Given the description of an element on the screen output the (x, y) to click on. 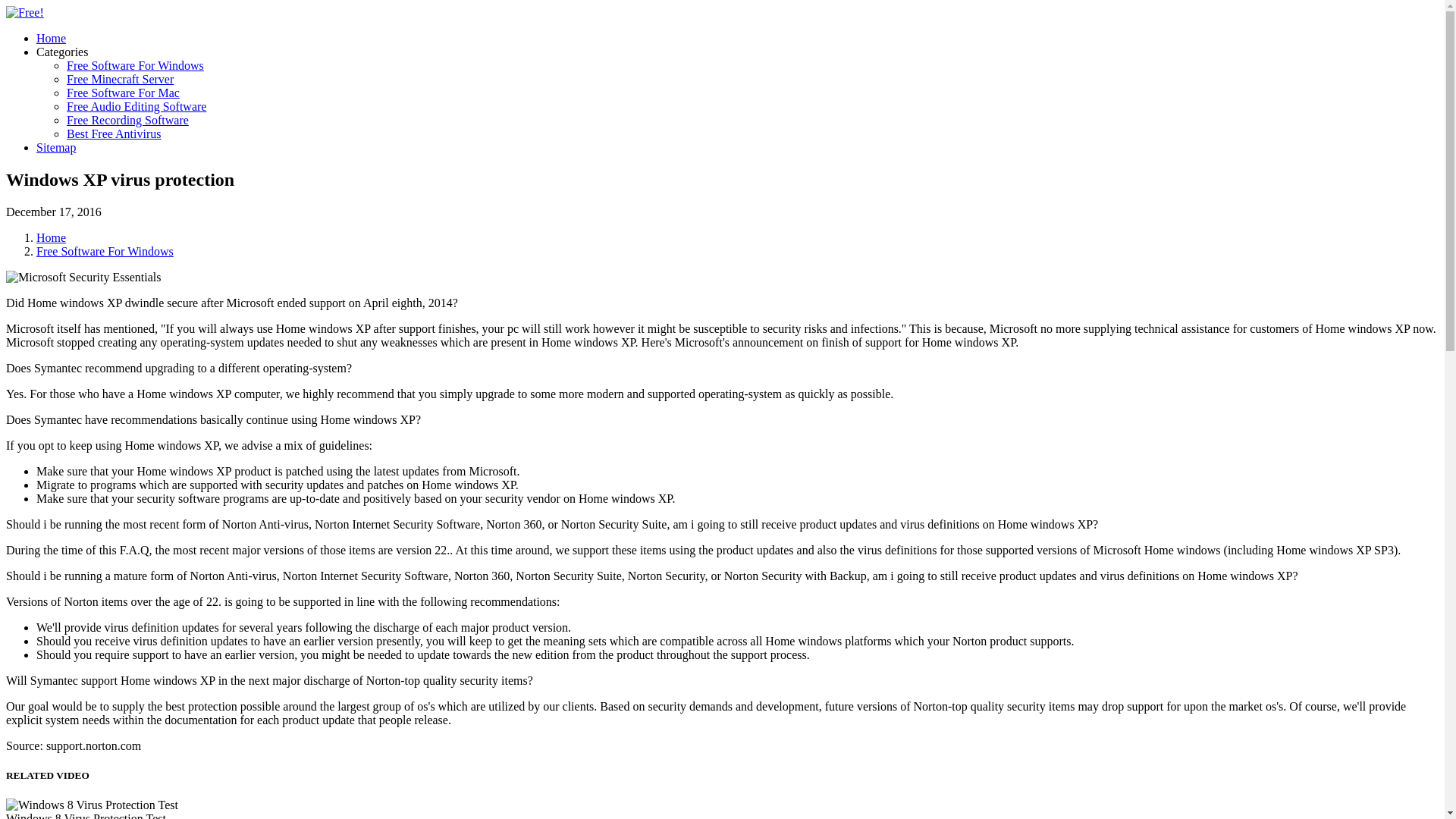
Free Software For Mac (122, 92)
Free Minecraft Server (119, 78)
Home (50, 38)
Best Free Antivirus (113, 133)
Categories (61, 51)
Free Software For Windows (104, 250)
Sitemap (55, 146)
Free Audio Editing Software (136, 106)
Free Recording Software (127, 119)
Free Software For Windows (134, 65)
